Given the description of an element on the screen output the (x, y) to click on. 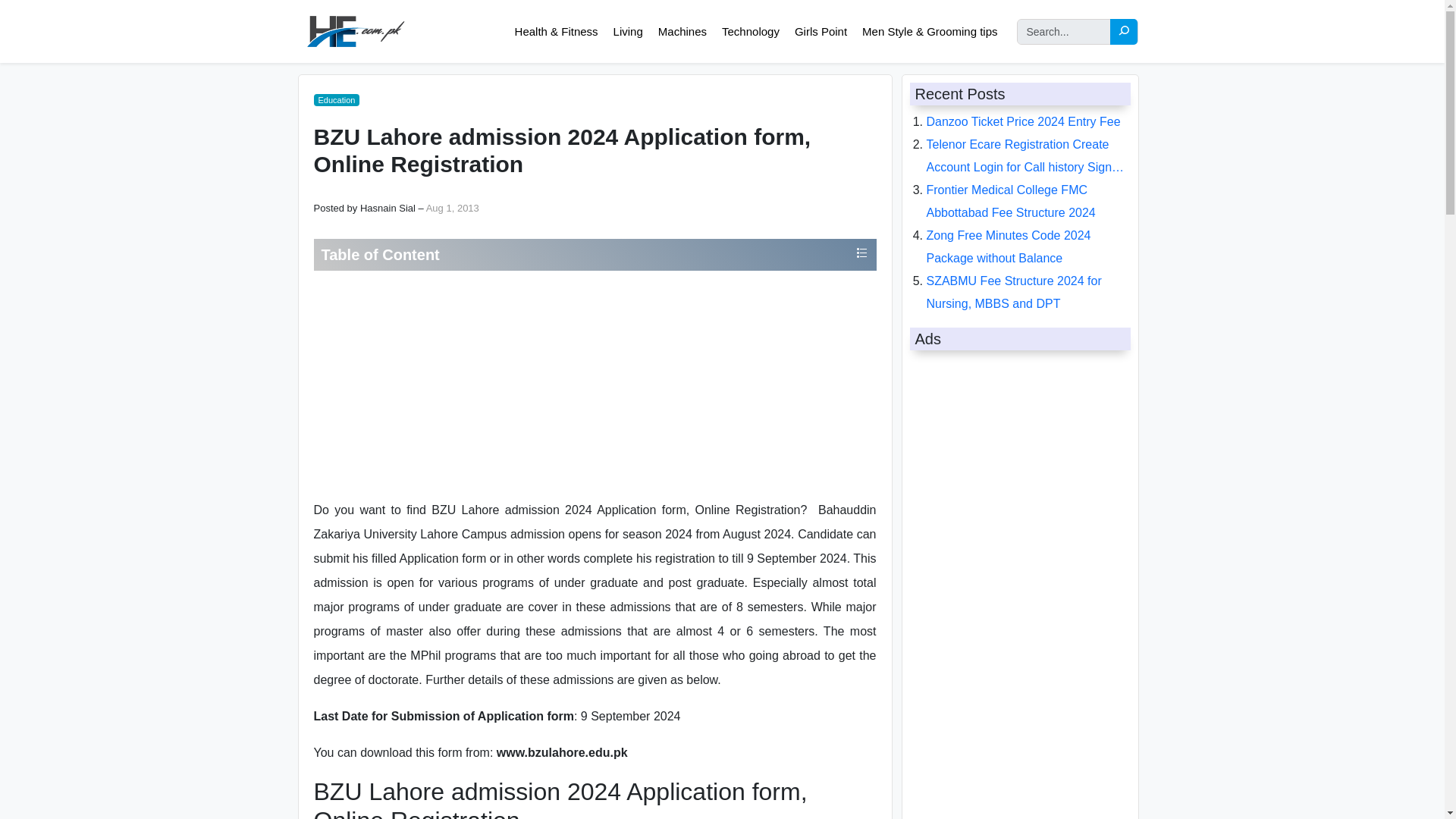
Education (336, 100)
Advertisement (595, 383)
Technology (750, 31)
Girls Point (820, 31)
Danzoo Ticket Price 2024 Entry Fee (1023, 121)
SZABMU Fee Structure 2024 for Nursing, MBBS and DPT (1014, 292)
Zong Free Minutes Code 2024 Package without Balance (1008, 246)
www.bzulahore.edu.pk (561, 752)
Frontier Medical College FMC Abbottabad Fee Structure 2024 (1011, 201)
Machines (681, 31)
